Given the description of an element on the screen output the (x, y) to click on. 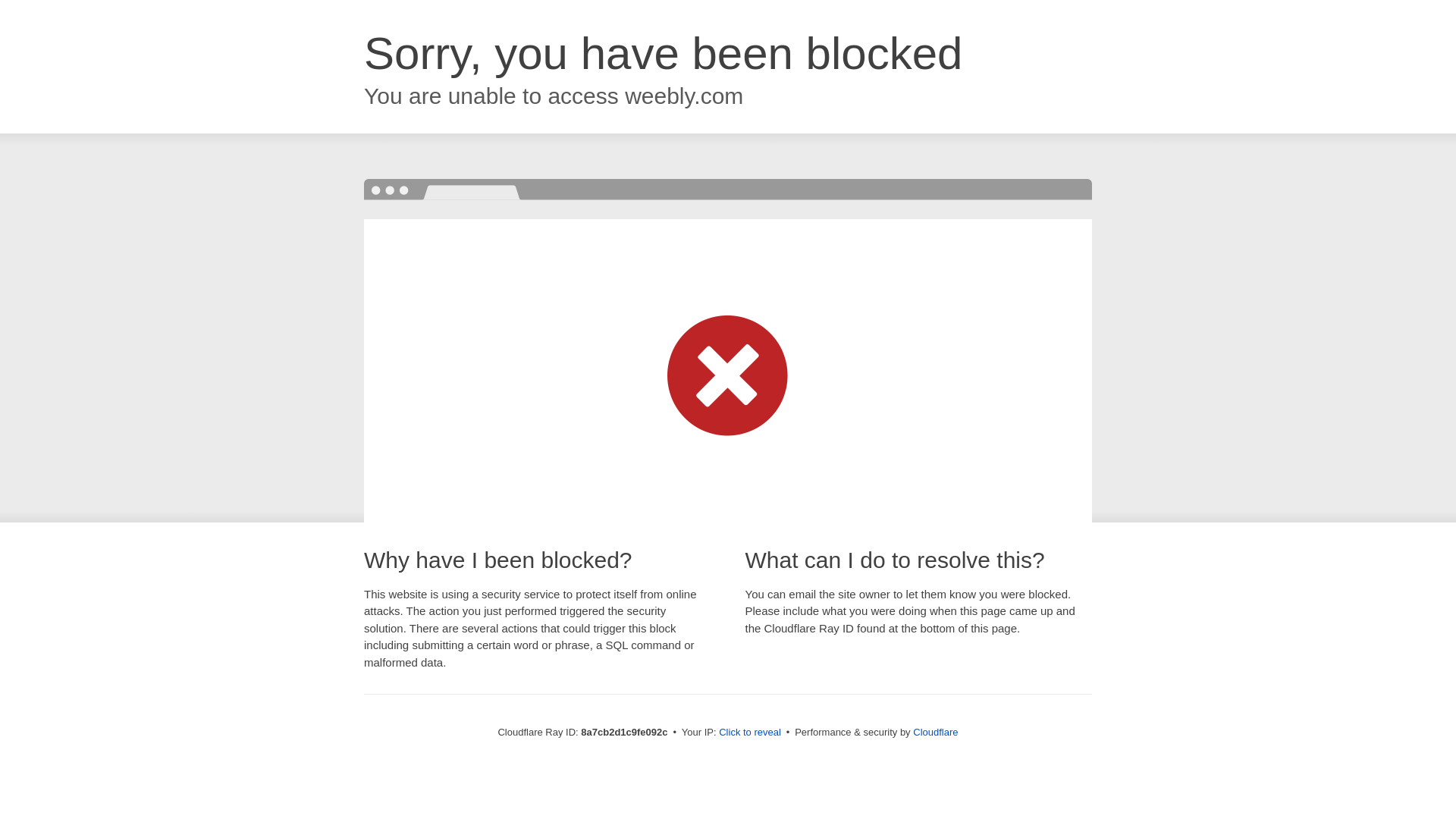
Cloudflare (935, 731)
Click to reveal (749, 732)
